Given the description of an element on the screen output the (x, y) to click on. 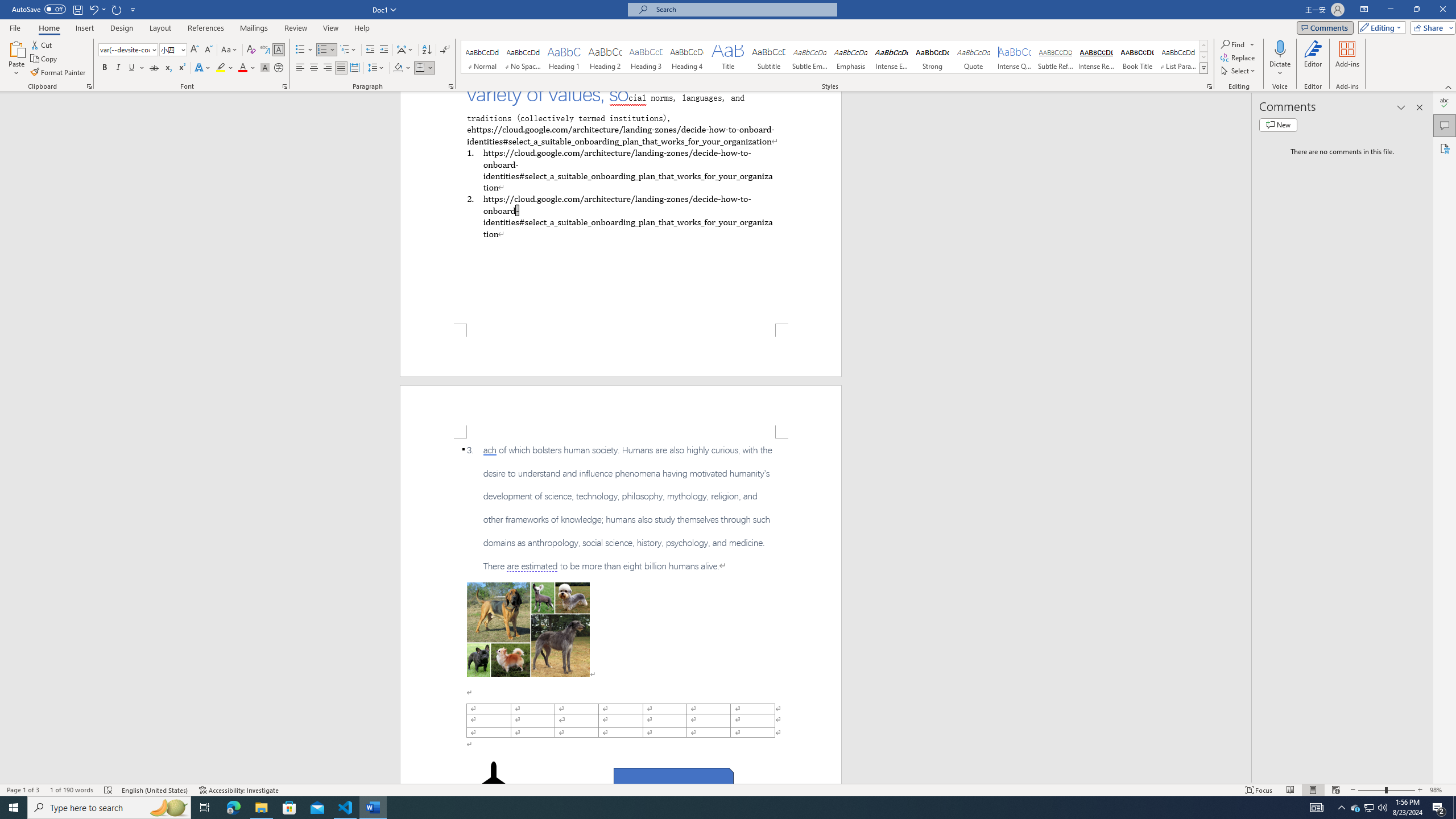
Minimize (1390, 9)
Help (361, 28)
Intense Quote (1014, 56)
Replace... (1237, 56)
Editor (1444, 102)
Accessibility Checker Accessibility: Investigate (239, 790)
Comments (1444, 125)
Select (1238, 69)
Office Clipboard... (88, 85)
Paste (16, 58)
Collapse the Ribbon (1448, 86)
References (205, 28)
Format Painter (58, 72)
